Given the description of an element on the screen output the (x, y) to click on. 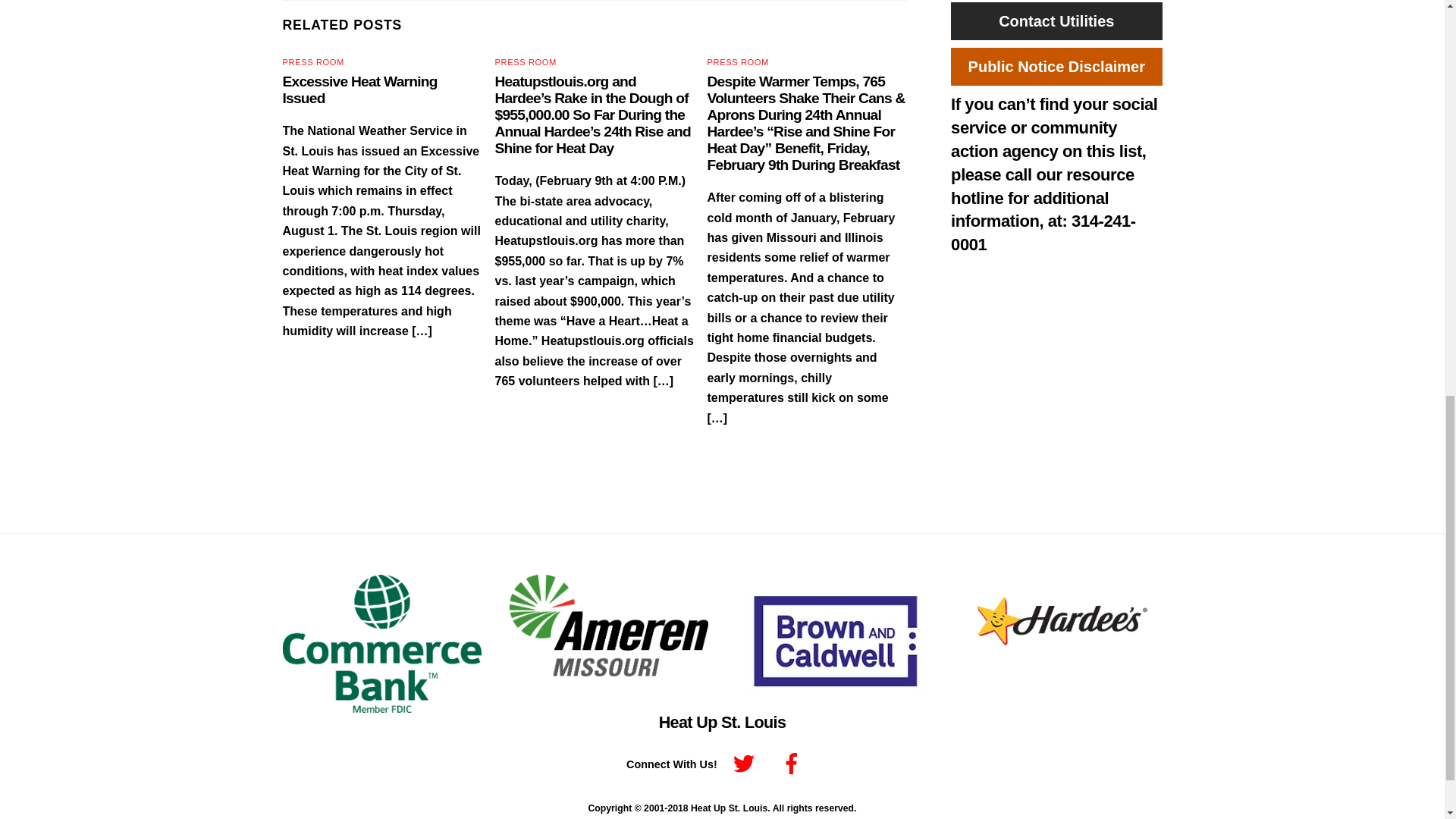
PRESS ROOM (737, 61)
Excessive Heat Warning Issued (359, 89)
PRESS ROOM (525, 61)
Heat Up St. Louis (722, 722)
PRESS ROOM (312, 61)
